Given the description of an element on the screen output the (x, y) to click on. 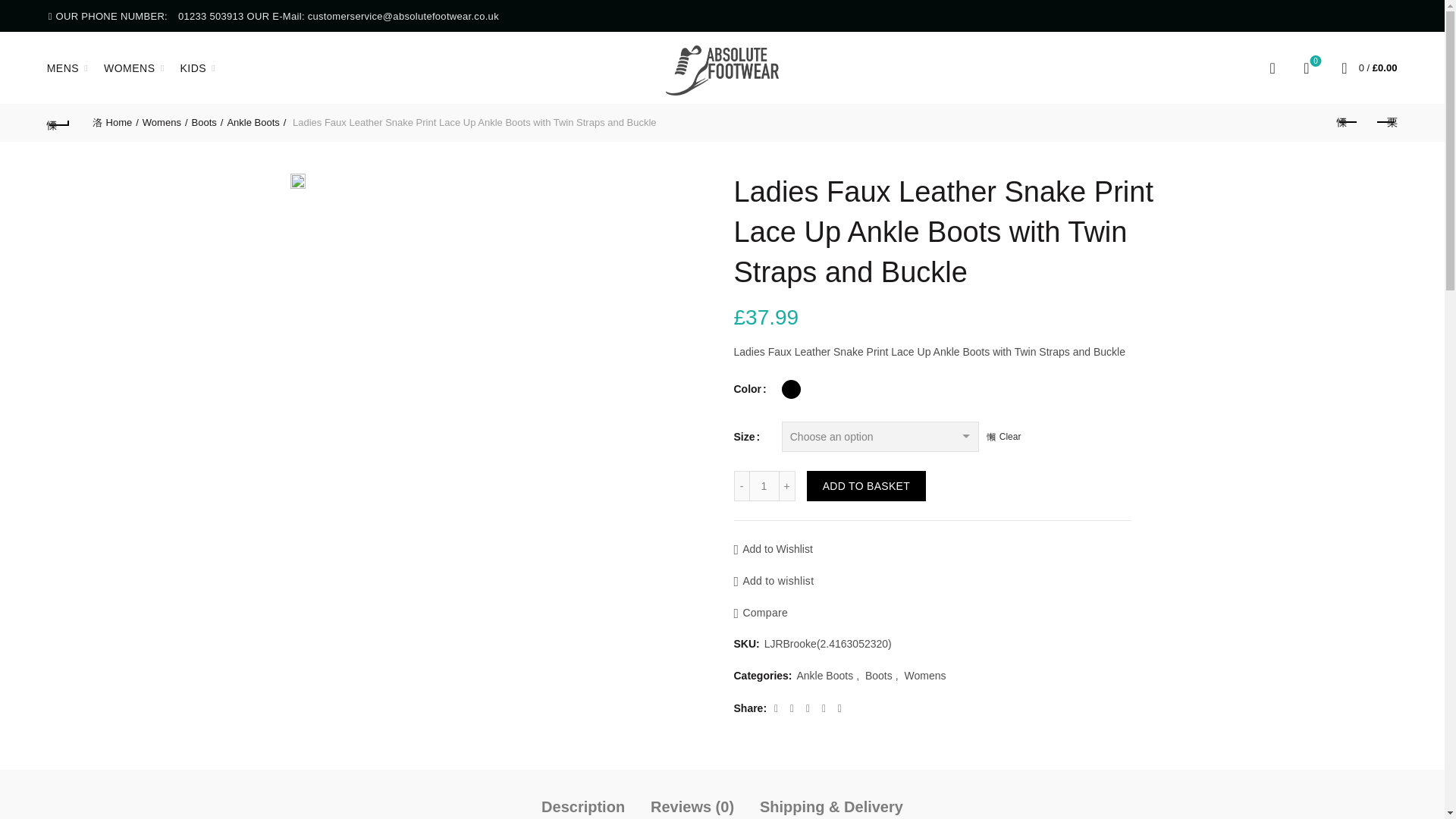
MENS (62, 67)
BrookeBlackSnakeMain (296, 181)
1 (763, 485)
WOMENS (129, 67)
KIDS (192, 67)
